Given the description of an element on the screen output the (x, y) to click on. 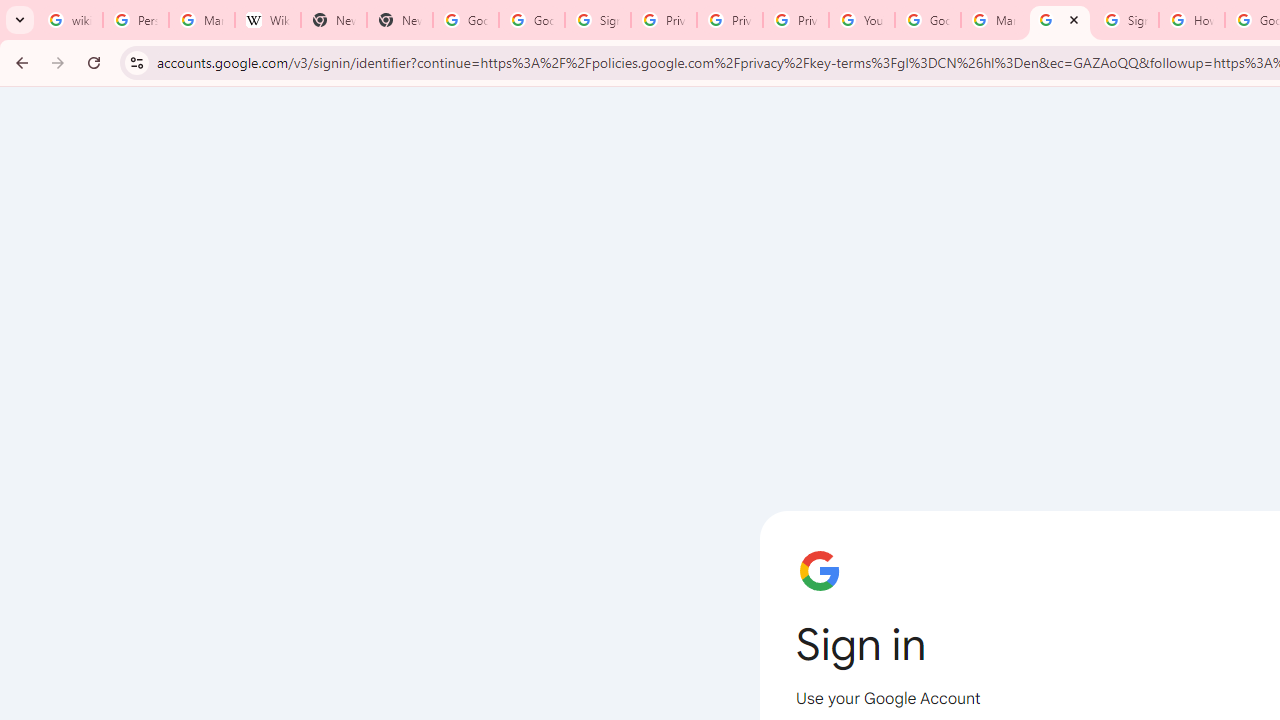
Google Account Help (927, 20)
New Tab (399, 20)
Sign in - Google Accounts (1059, 20)
New Tab (333, 20)
Sign in - Google Accounts (597, 20)
Sign in - Google Accounts (1125, 20)
